Given the description of an element on the screen output the (x, y) to click on. 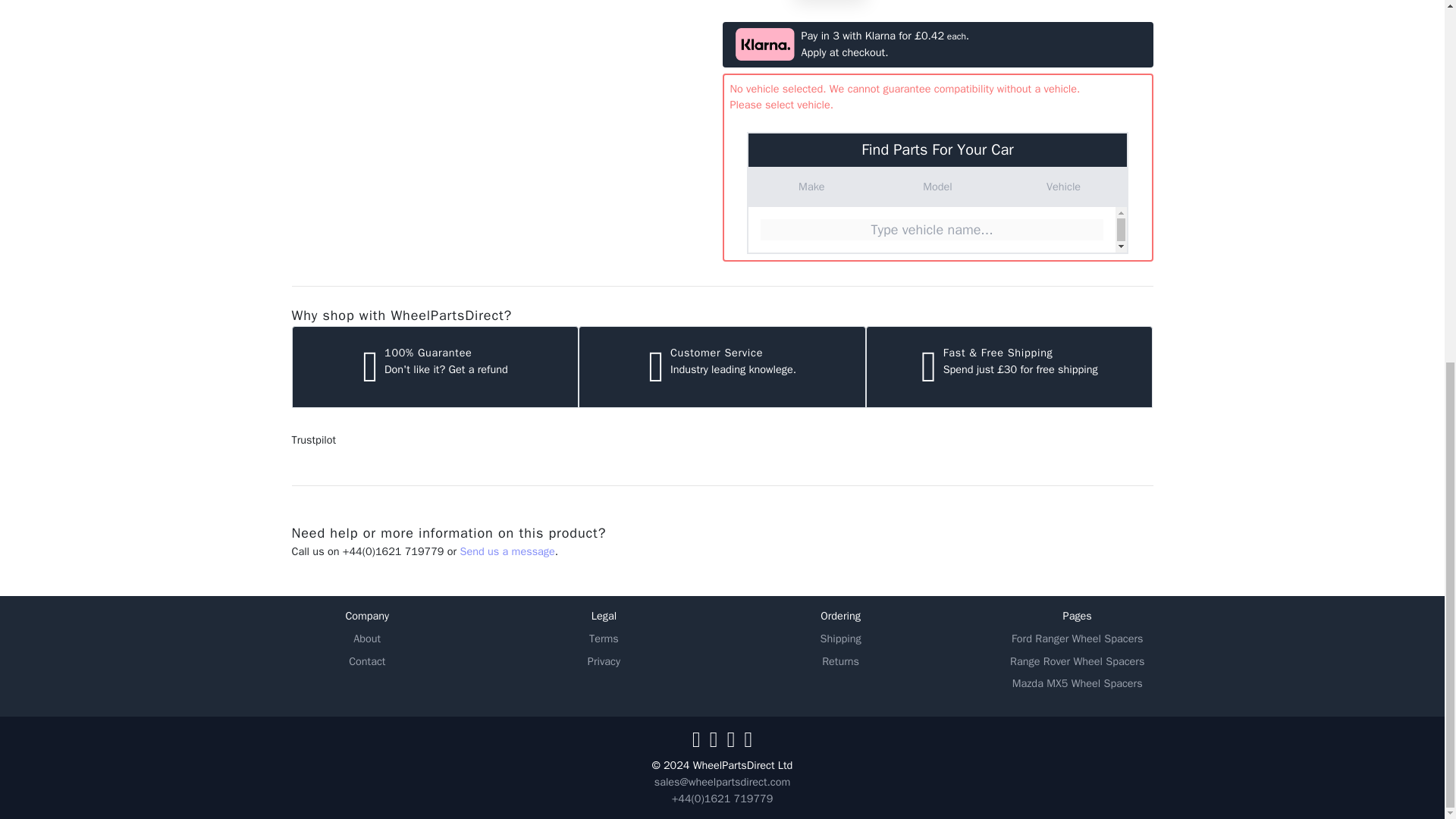
Returns (840, 660)
Send us a message (507, 550)
Terms (603, 638)
Privacy (603, 660)
Mazda MX5 Wheel Spacers (1077, 683)
Range Rover Wheel Spacers (1077, 660)
Trustpilot (313, 439)
Shipping (840, 638)
Ford Ranger Wheel Spacers (1077, 638)
About (366, 638)
Contact (366, 660)
